Given the description of an element on the screen output the (x, y) to click on. 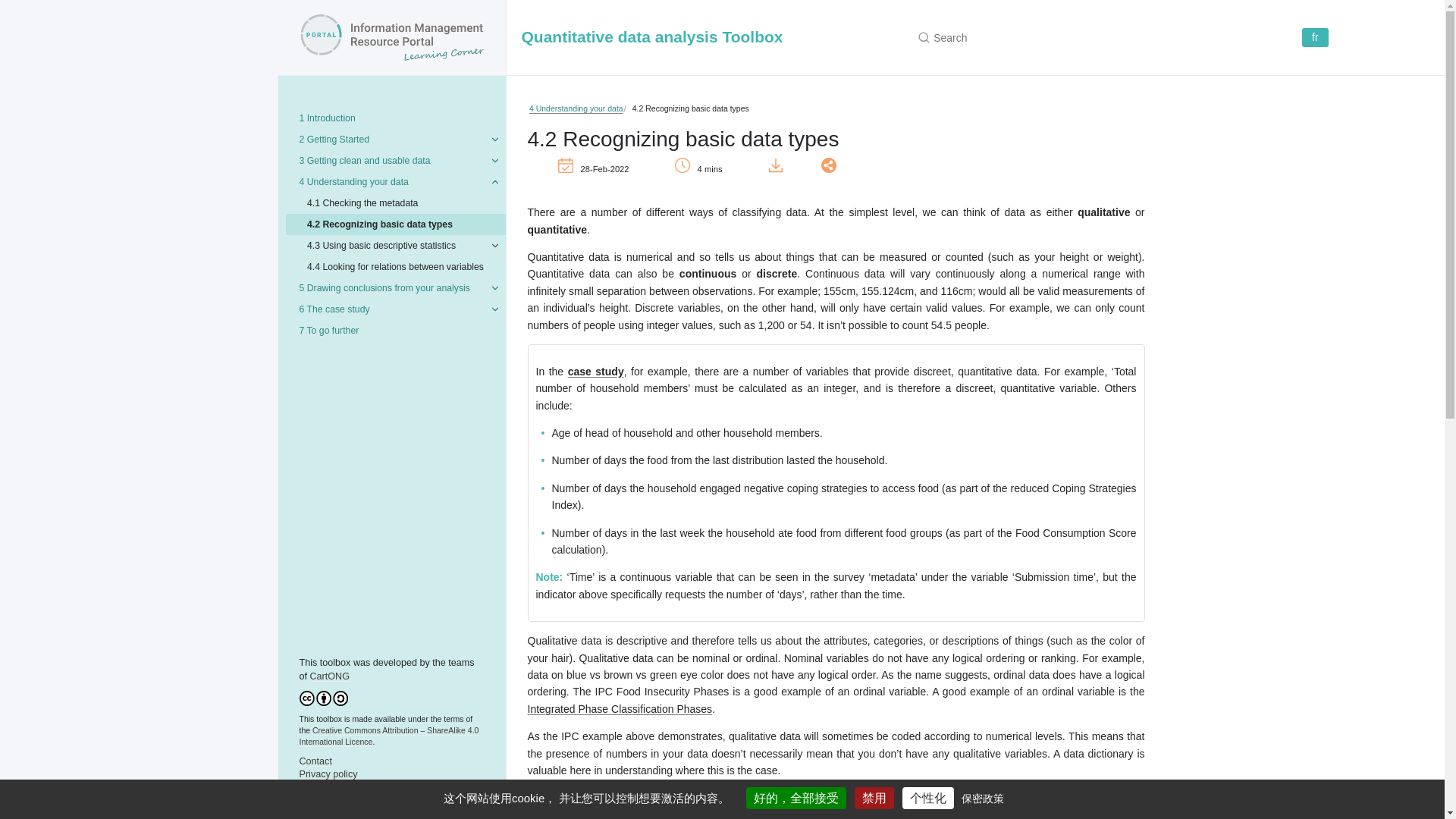
5 Drawing conclusions from your analysis (391, 287)
3 Getting clean and usable data (391, 160)
Estimated read time (717, 169)
1 Introduction (391, 117)
4.2 Recognizing basic data types (395, 224)
4.4 Looking for relations between variables (395, 266)
4.1 Checking the metadata (395, 202)
4.3 Using basic descriptive statistics (395, 245)
2 Getting Started (391, 138)
4 Understanding your data (391, 181)
